Given the description of an element on the screen output the (x, y) to click on. 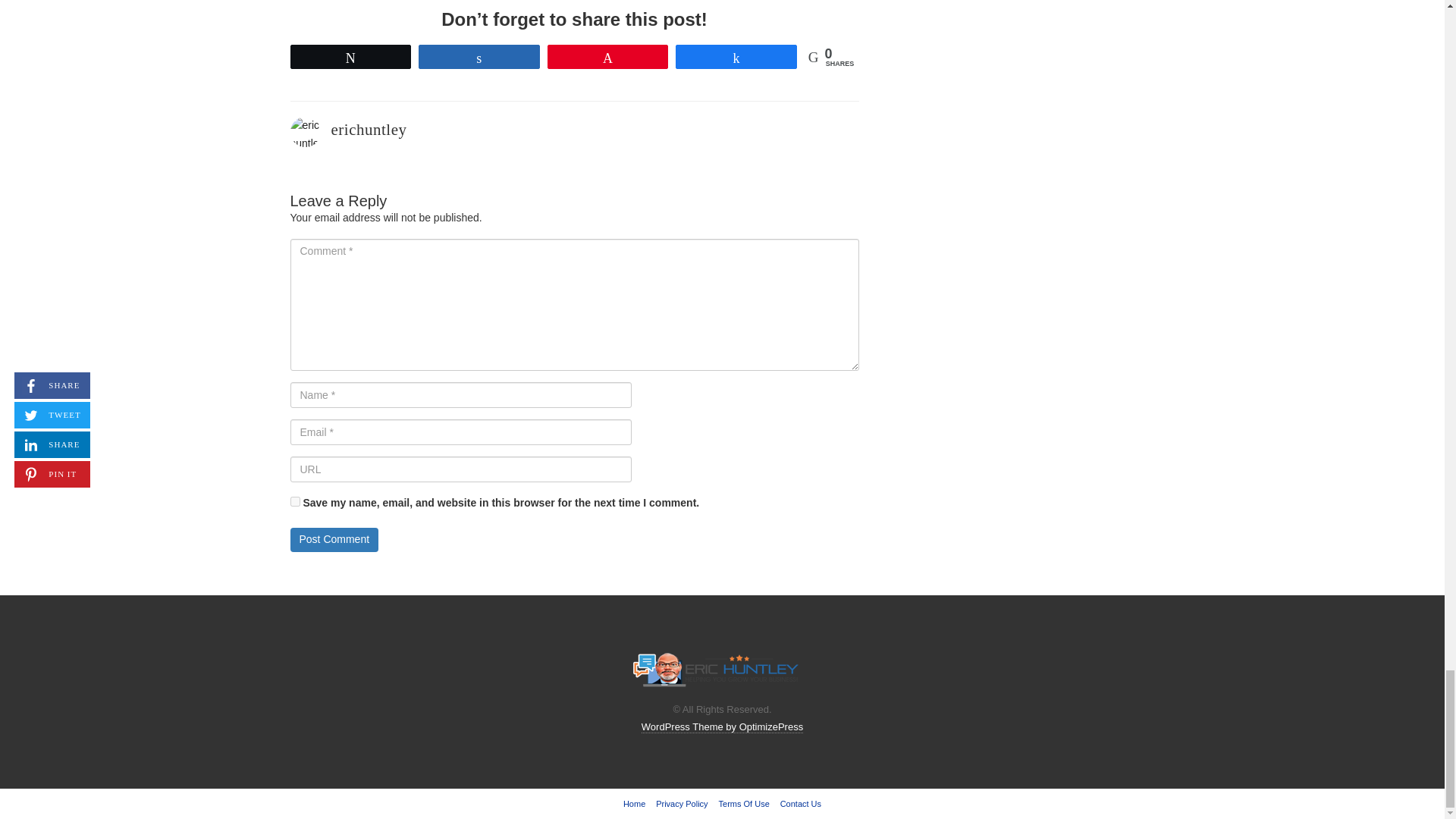
Post Comment (333, 539)
erichuntley (368, 129)
Post Comment (333, 539)
Eric Huntley's Blog (716, 670)
yes (294, 501)
